Given the description of an element on the screen output the (x, y) to click on. 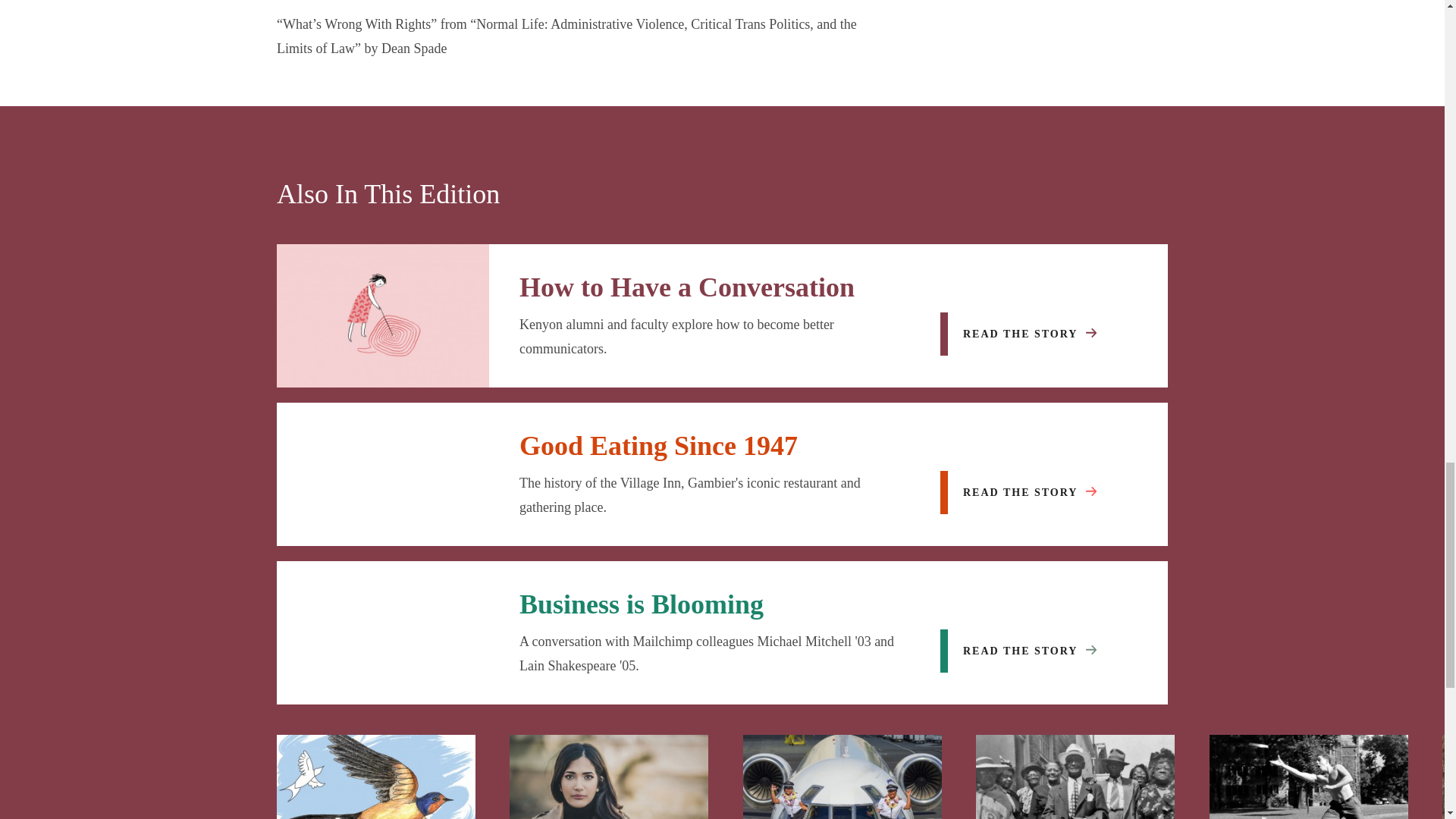
READ THE STORY (1026, 492)
READ THE STORY (1026, 650)
Business is Blooming (640, 603)
How to Have a Conversation (686, 286)
Good Eating Since 1947 (658, 445)
READ THE STORY (1026, 333)
